Given the description of an element on the screen output the (x, y) to click on. 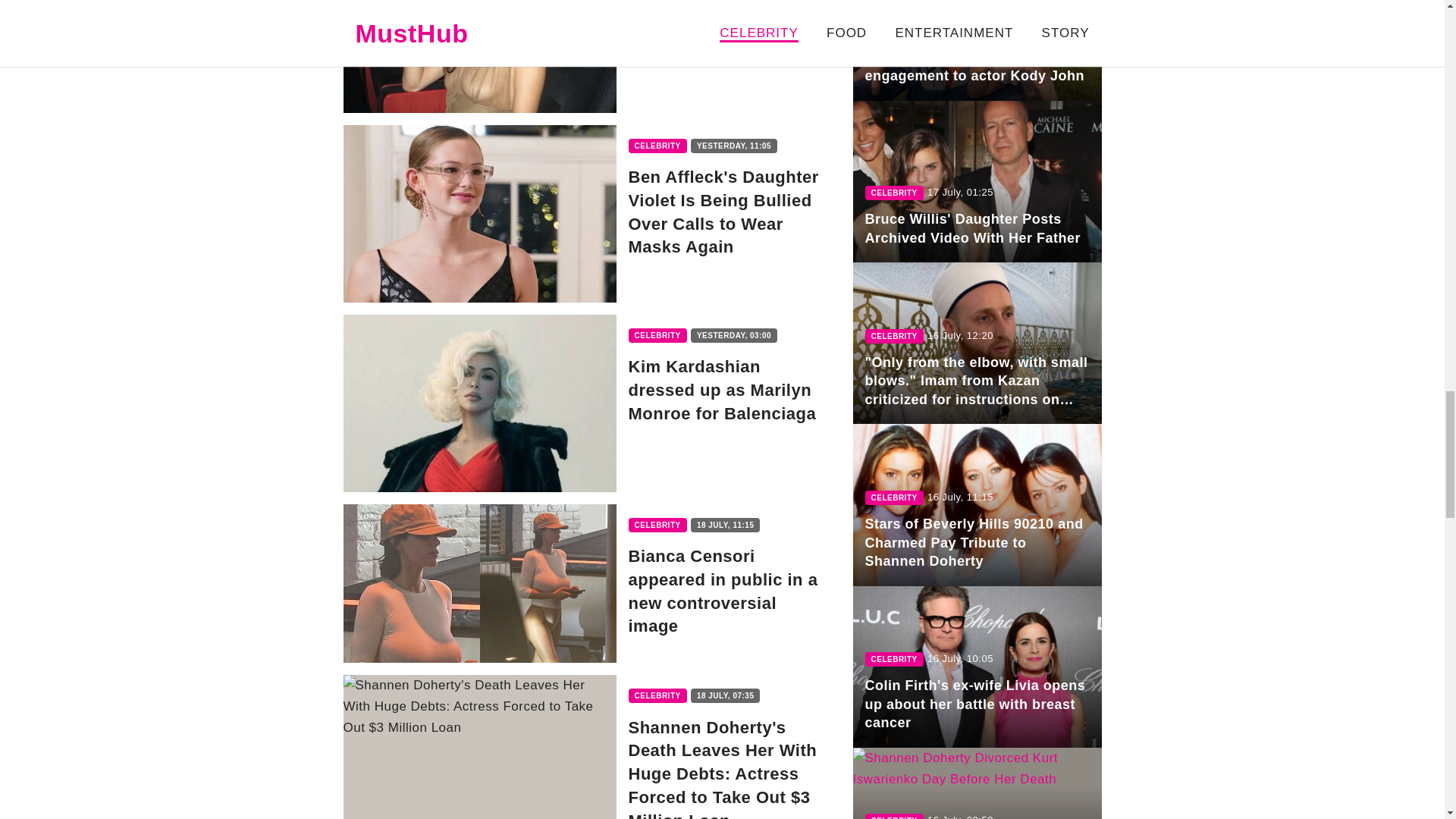
Kim Kardashian dressed up as Marilyn Monroe for Balenciaga (591, 403)
